Given the description of an element on the screen output the (x, y) to click on. 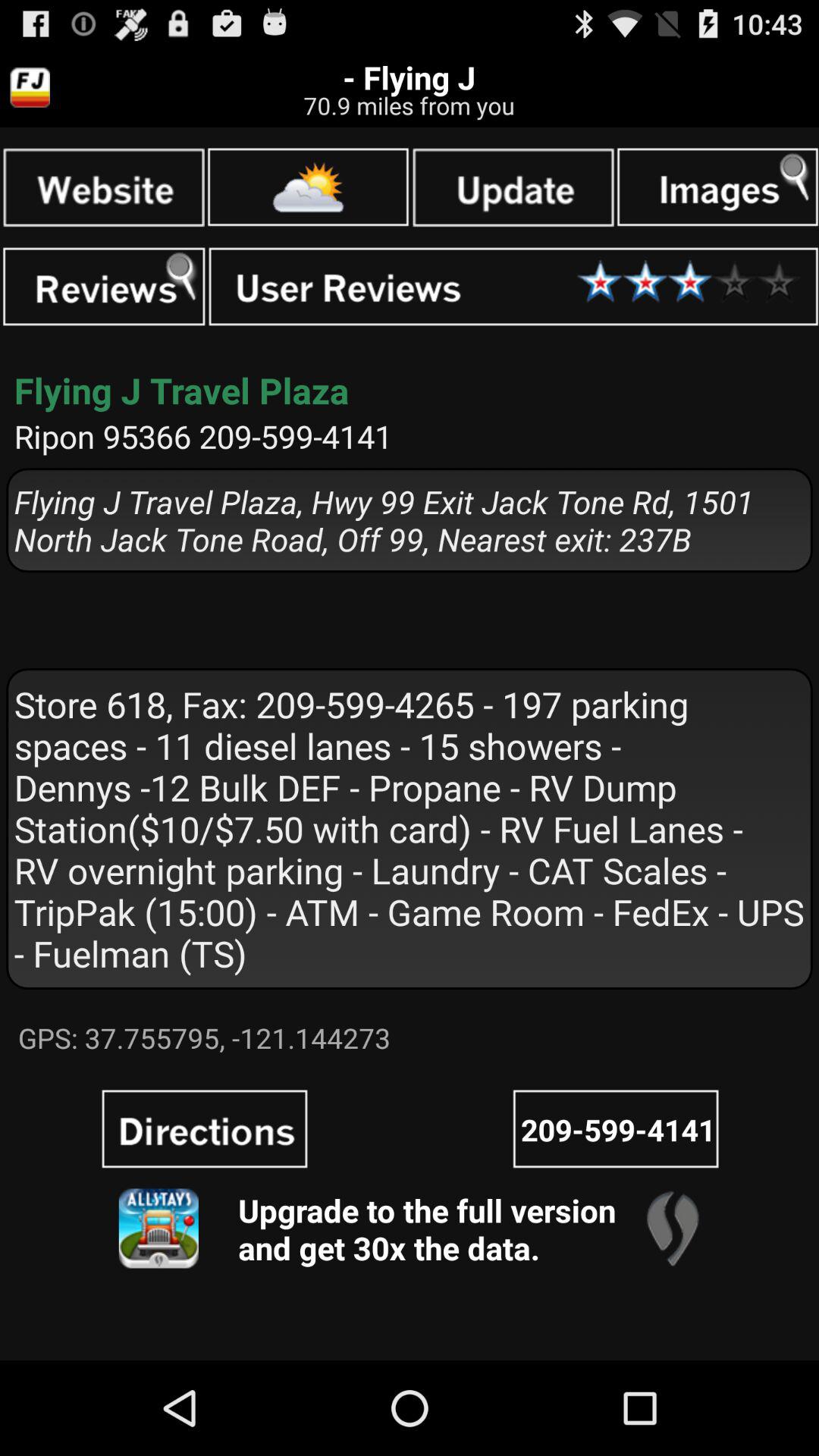
select images (717, 186)
